Given the description of an element on the screen output the (x, y) to click on. 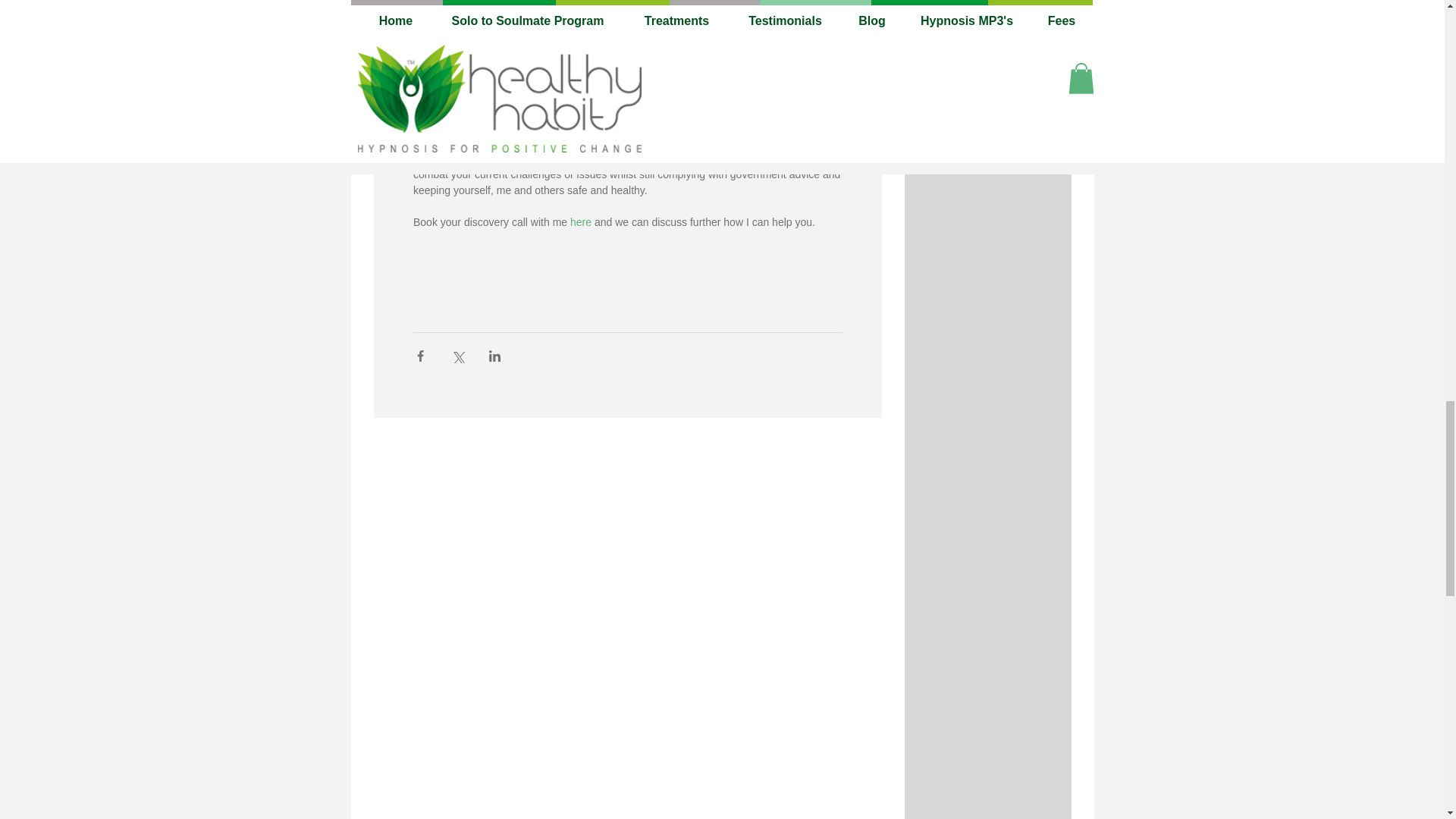
here (580, 222)
